Given the description of an element on the screen output the (x, y) to click on. 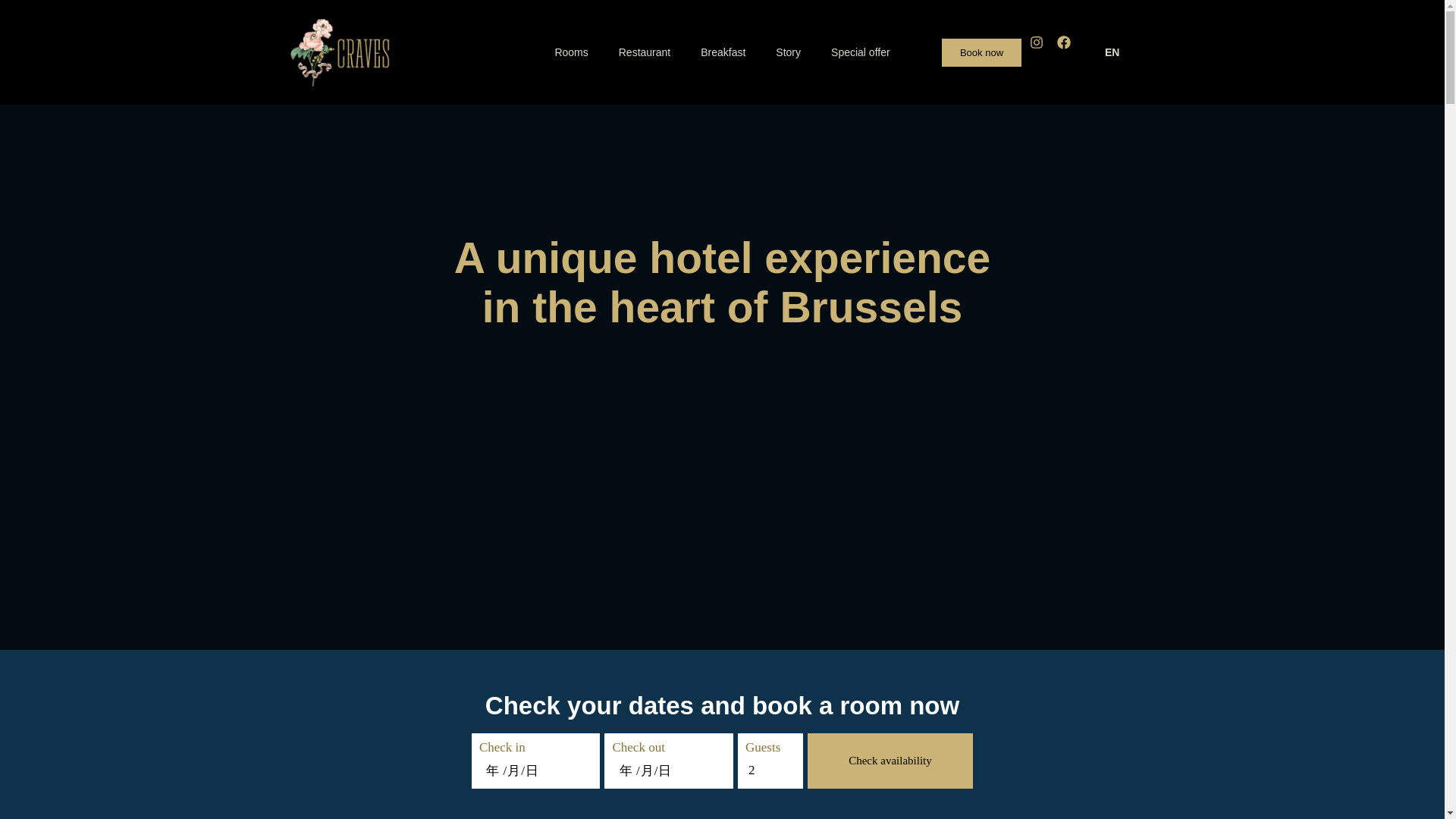
Restaurant (644, 52)
Special offer (860, 52)
Breakfast (722, 52)
Rooms (570, 52)
2 (769, 769)
Story (787, 52)
